Given the description of an element on the screen output the (x, y) to click on. 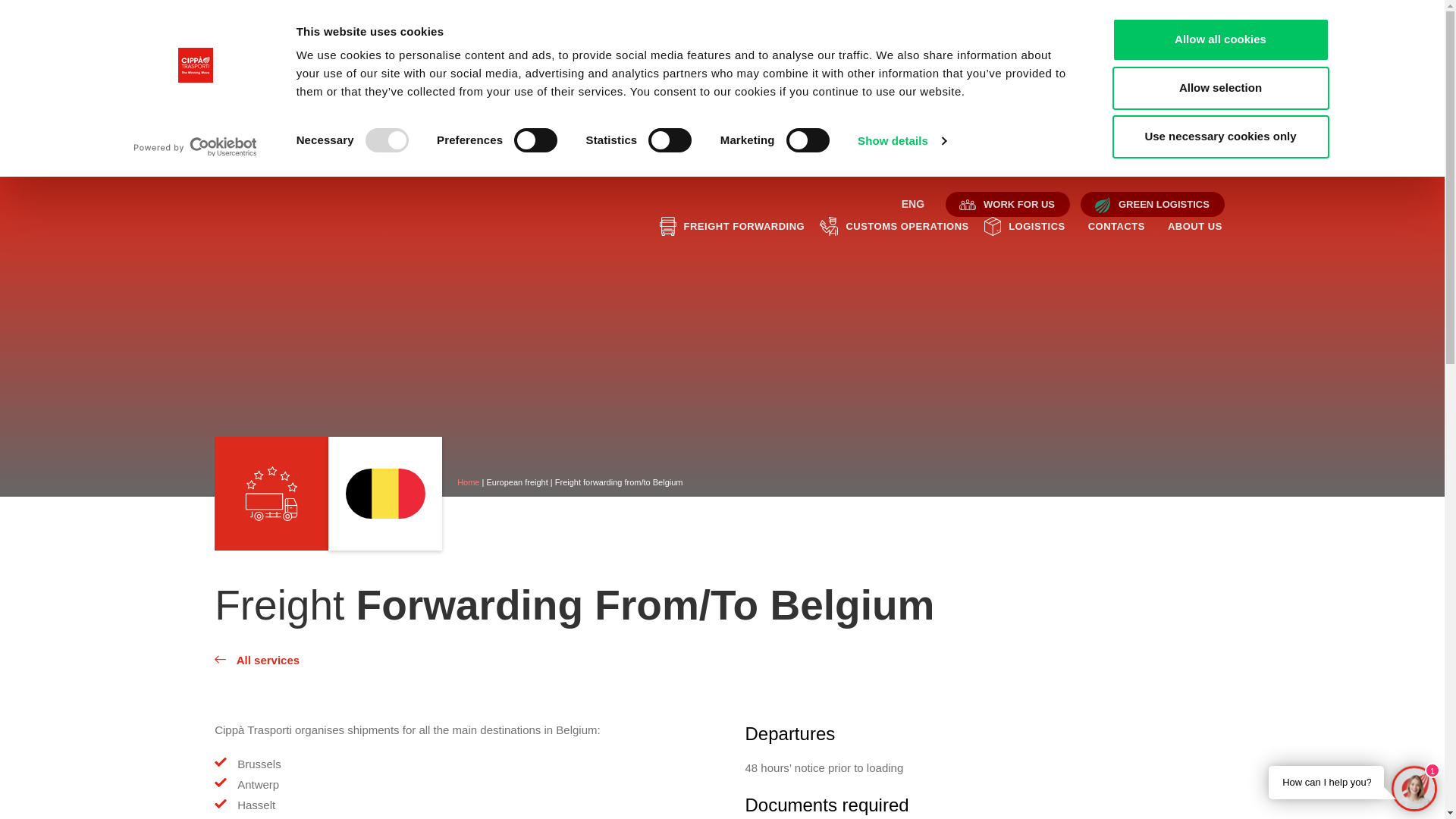
ENG Element type: text (912, 203)
Allow all cookies Element type: text (1219, 39)
Show details Element type: text (901, 140)
All services Element type: text (722, 660)
CONTACTS Element type: text (1116, 226)
Use necessary cookies only Element type: text (1219, 136)
LOGISTICS Element type: text (1037, 226)
ABOUT US Element type: text (1195, 226)
FREIGHT FORWARDING Element type: text (744, 226)
GREEN LOGISTICS Element type: text (1152, 203)
WORK FOR US Element type: text (1007, 203)
European freight Element type: text (516, 481)
Home Element type: text (468, 481)
Allow selection Element type: text (1219, 87)
CUSTOMS OPERATIONS Element type: text (906, 226)
